Given the description of an element on the screen output the (x, y) to click on. 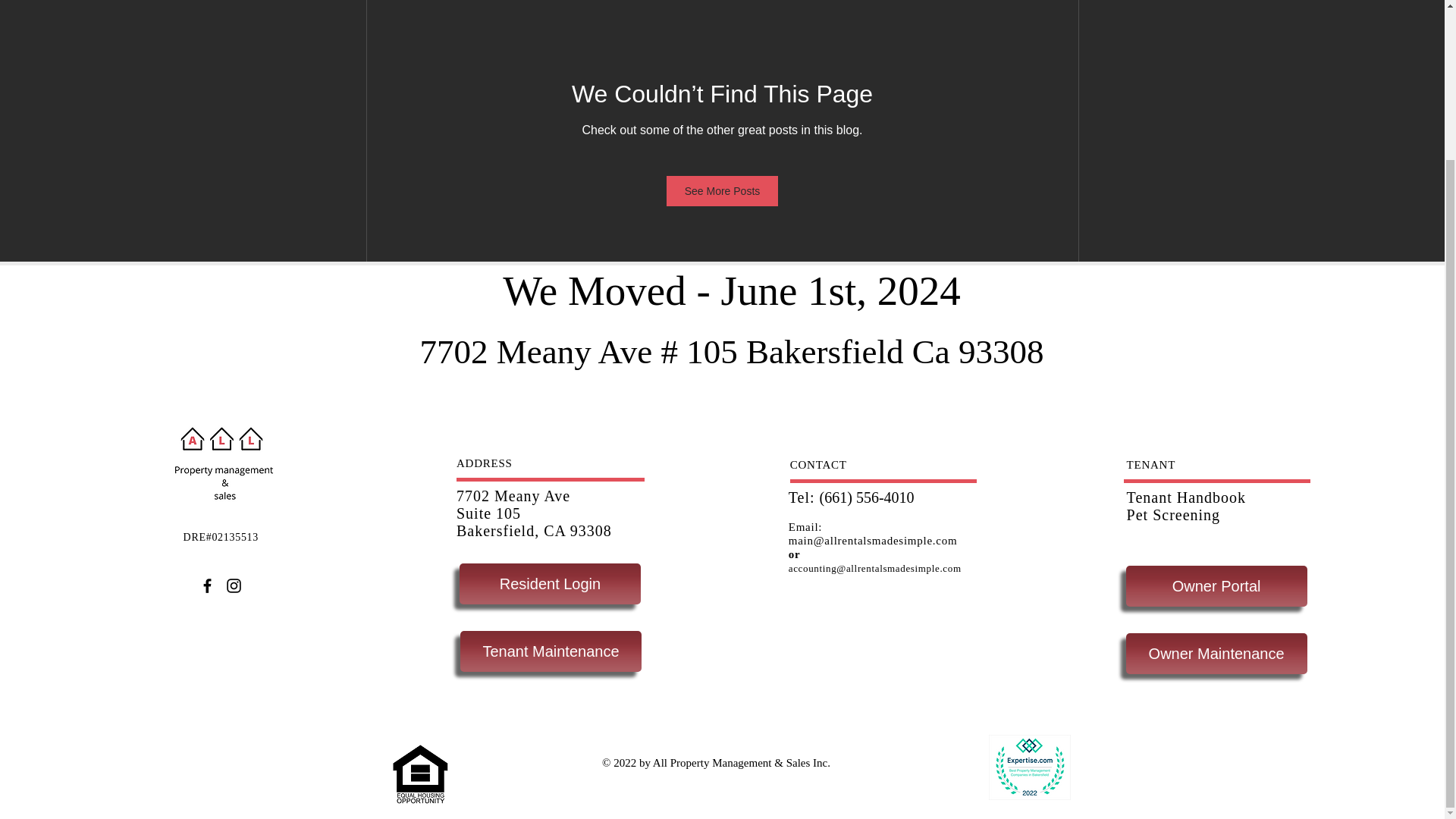
Owner Portal (1216, 585)
Resident Login (550, 583)
Tenant Maintenance (551, 650)
Tenant Handbook (1186, 497)
Pet Screening (1173, 514)
See More Posts (722, 191)
Owner Maintenance (1216, 653)
